Given the description of an element on the screen output the (x, y) to click on. 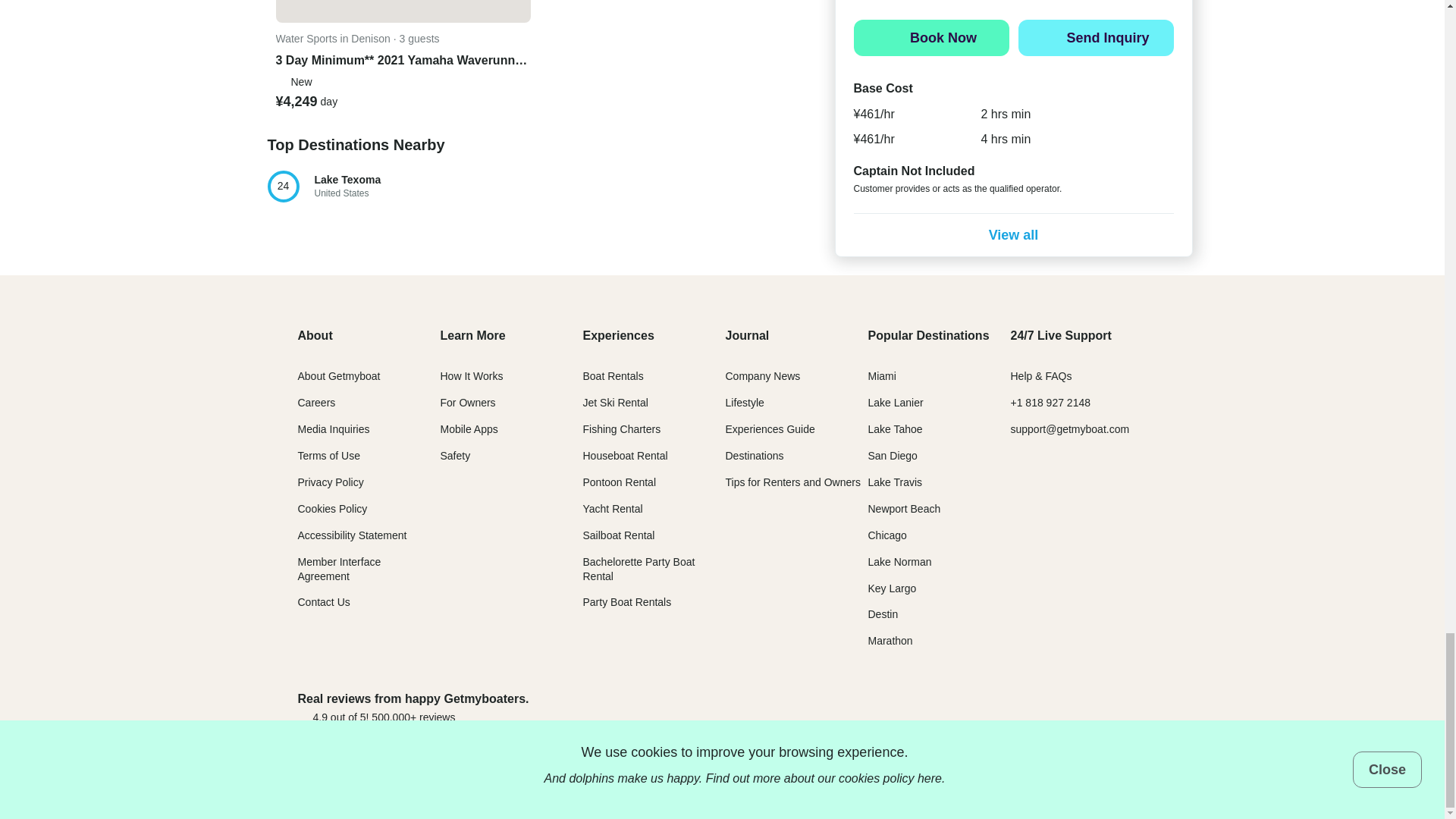
Instagram (1029, 784)
Facebook (975, 784)
YouTube (1139, 784)
Twitter (1002, 784)
Pinterest (1111, 784)
LinkedIn (1056, 784)
Get it on Google Play (1096, 707)
Download on the App Store (356, 186)
TikTok (977, 707)
